Given the description of an element on the screen output the (x, y) to click on. 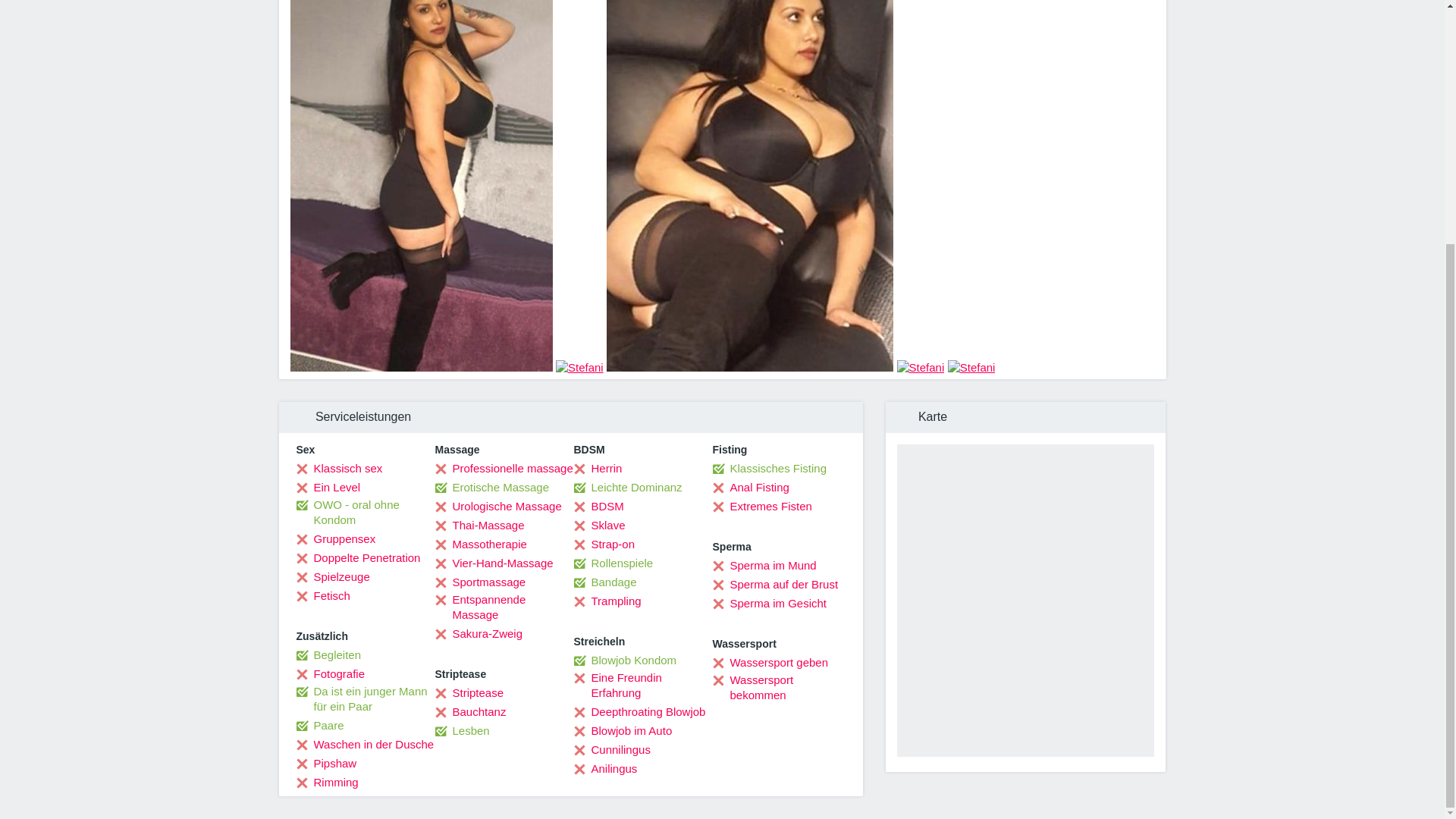
Gruppensex (335, 539)
Doppelte Penetration (357, 557)
Fotografie (330, 673)
Waschen in der Dusche (364, 744)
Pipshaw (325, 763)
Professionelle massage (504, 468)
Begleiten (328, 654)
Klassisch sex (338, 468)
Thai-Massage (479, 525)
Ein Level (327, 487)
